Given the description of an element on the screen output the (x, y) to click on. 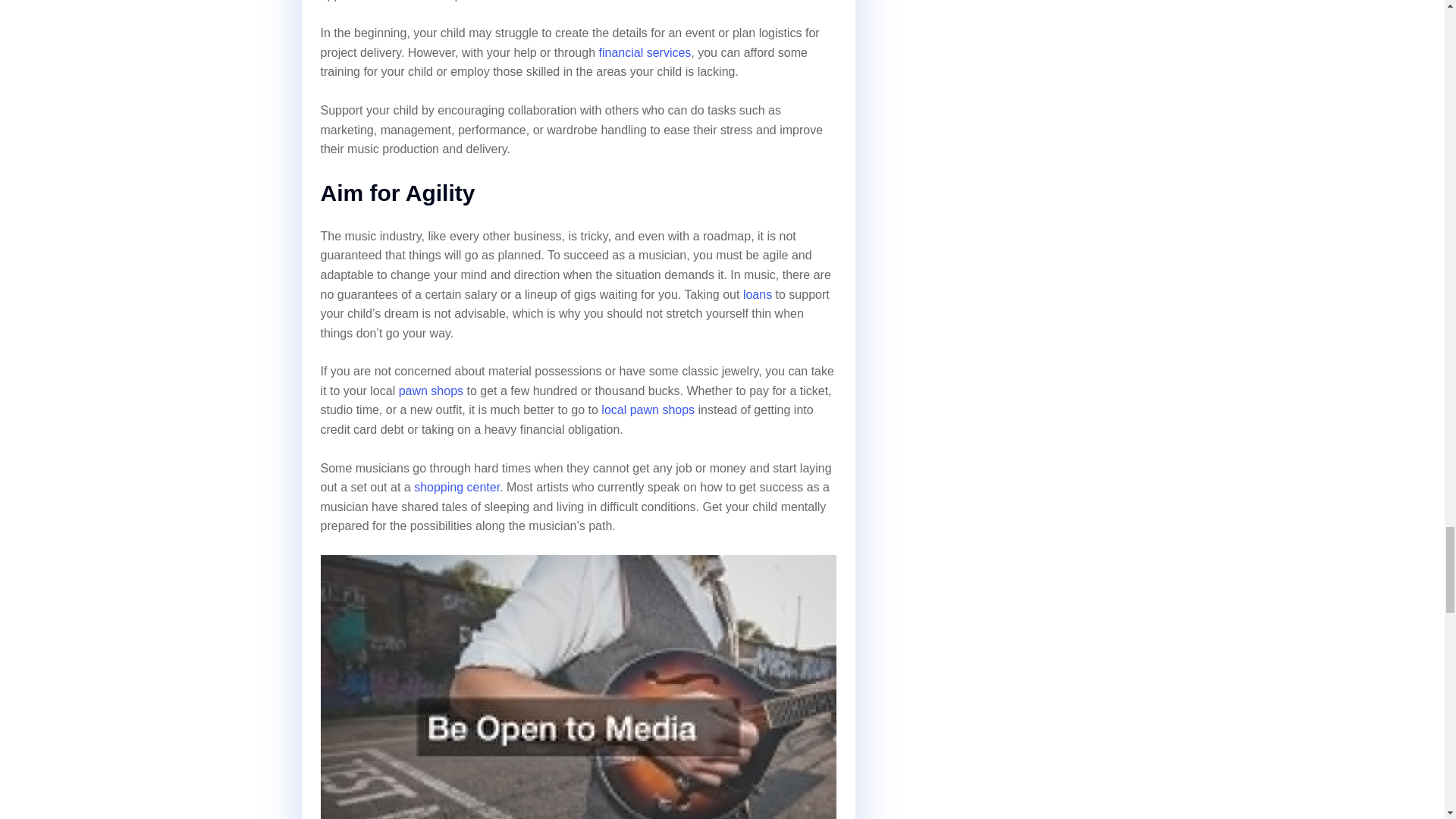
shopping center (456, 486)
loans (756, 294)
financial services (644, 51)
pawn shops (430, 390)
local pawn shops (647, 409)
